Given the description of an element on the screen output the (x, y) to click on. 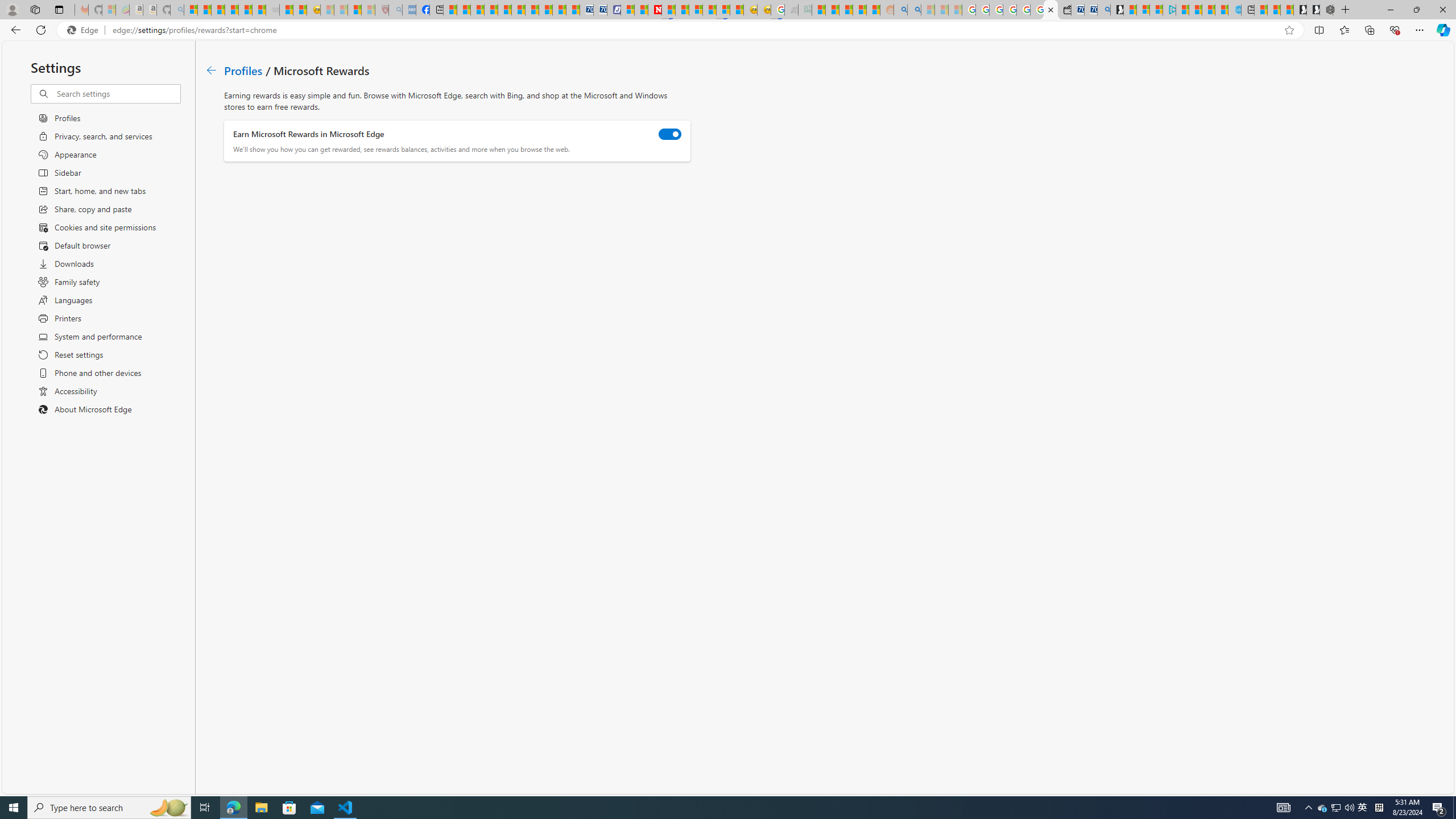
Search settings (117, 93)
Edge (84, 29)
Student Loan Update: Forgiveness Program Ends This Month (858, 9)
